Given the description of an element on the screen output the (x, y) to click on. 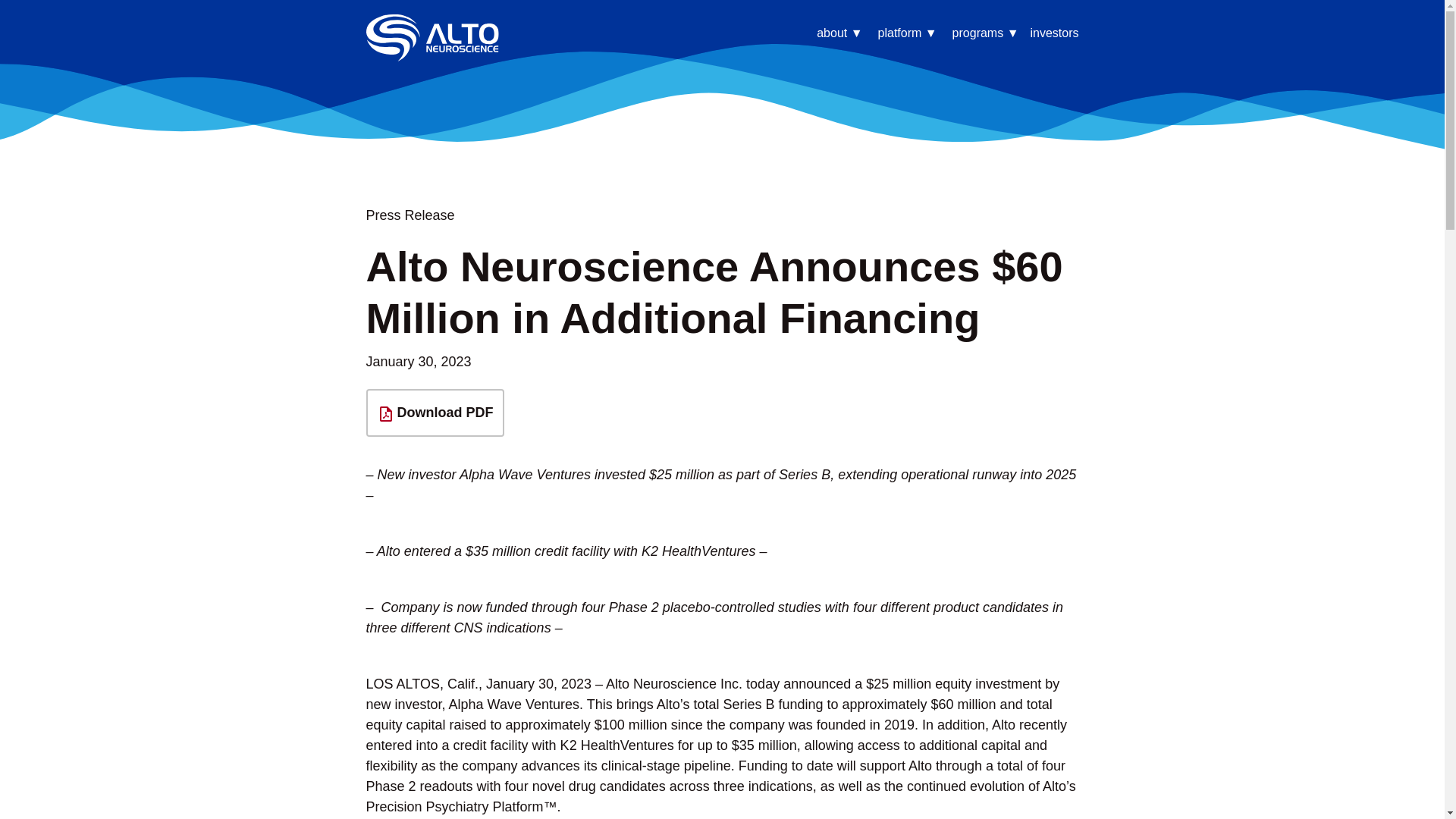
investors (1053, 35)
Download PDF (434, 412)
